Given the description of an element on the screen output the (x, y) to click on. 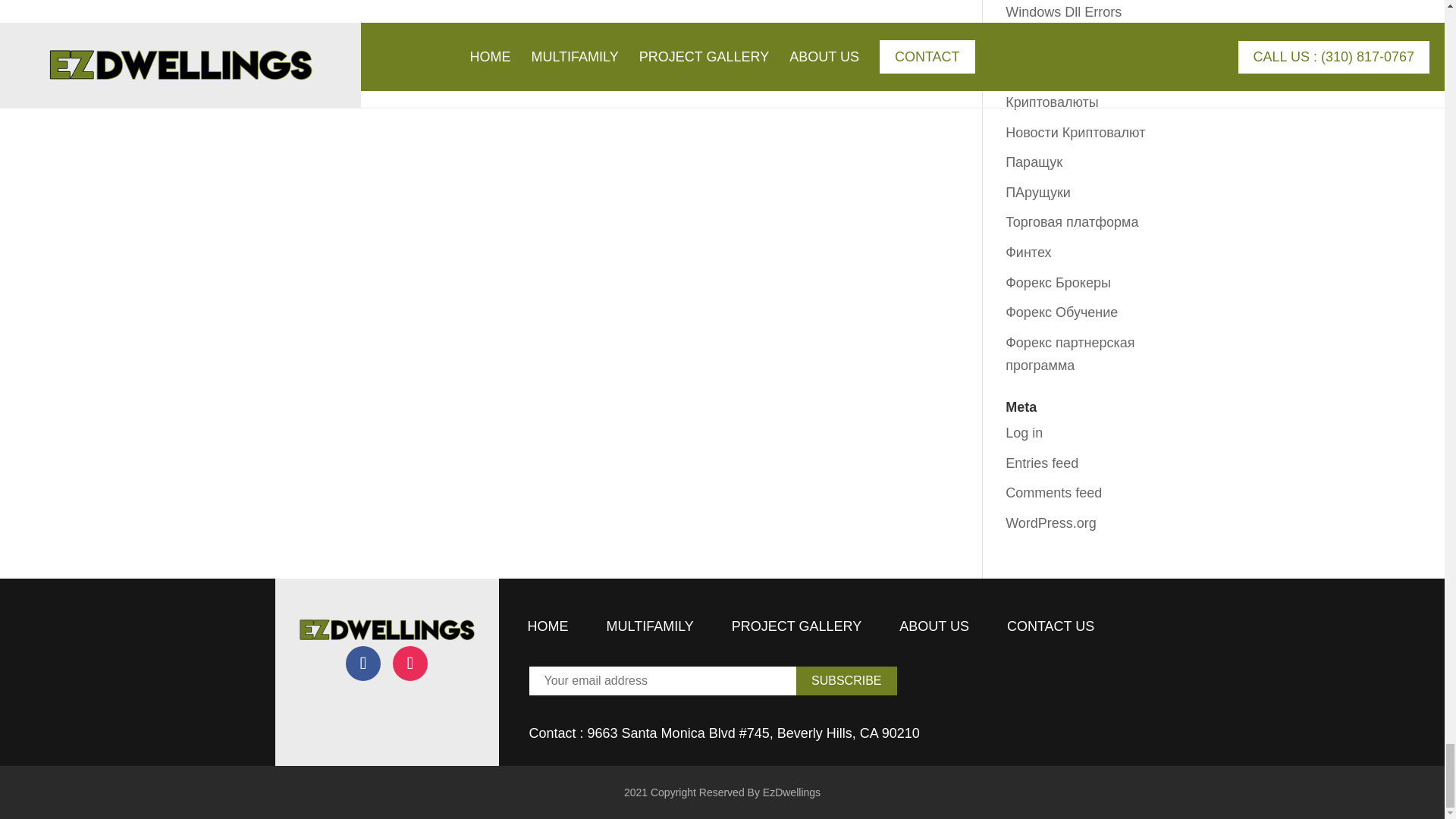
Follow on Instagram (410, 662)
Follow on Facebook (363, 662)
EZ-Dwellings-logo (386, 629)
Subscribe (846, 680)
